Given the description of an element on the screen output the (x, y) to click on. 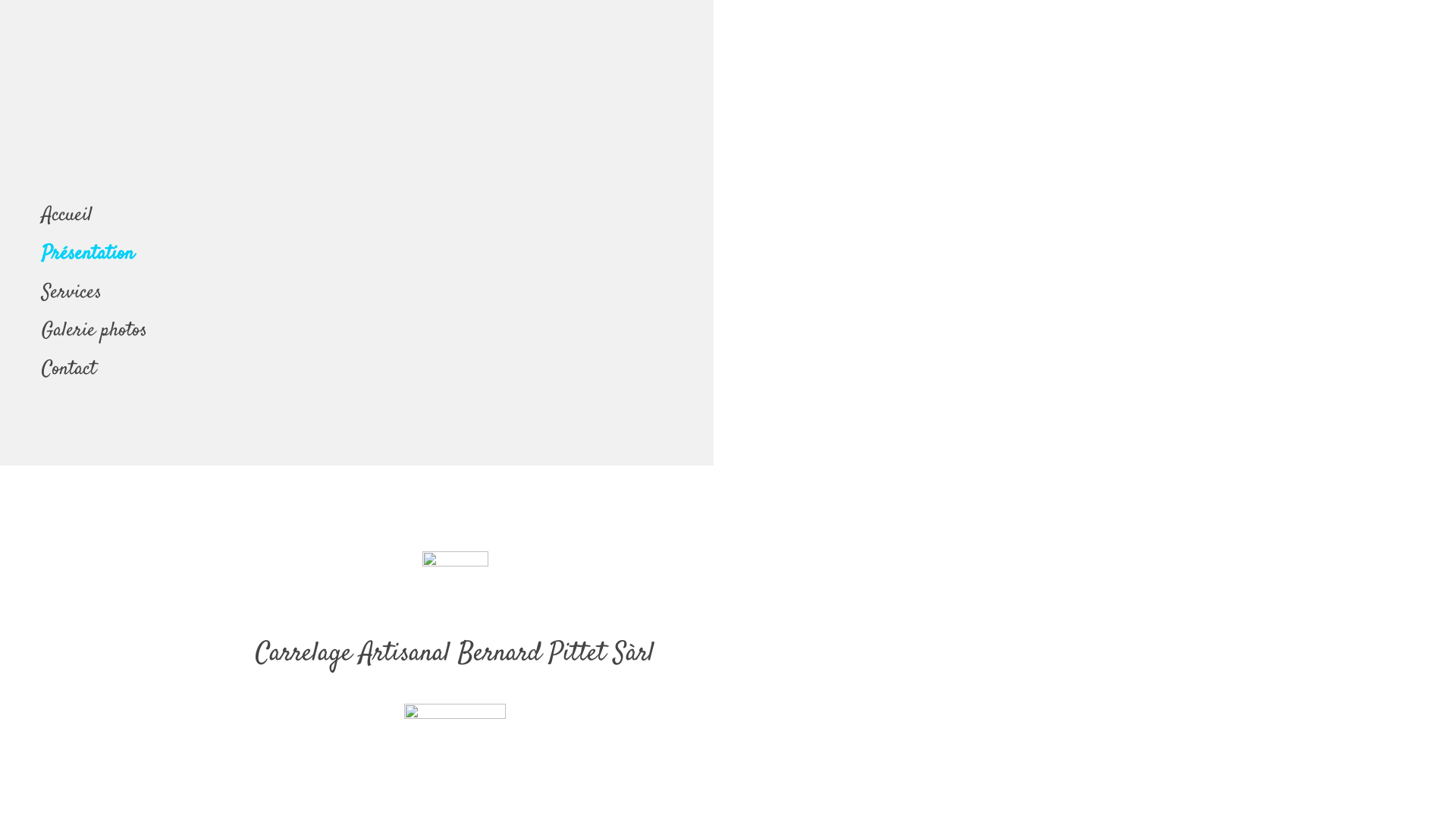
Accueil Element type: text (386, 216)
Contact Element type: text (386, 370)
Galerie photos Element type: text (386, 331)
Services Element type: text (386, 293)
